Given the description of an element on the screen output the (x, y) to click on. 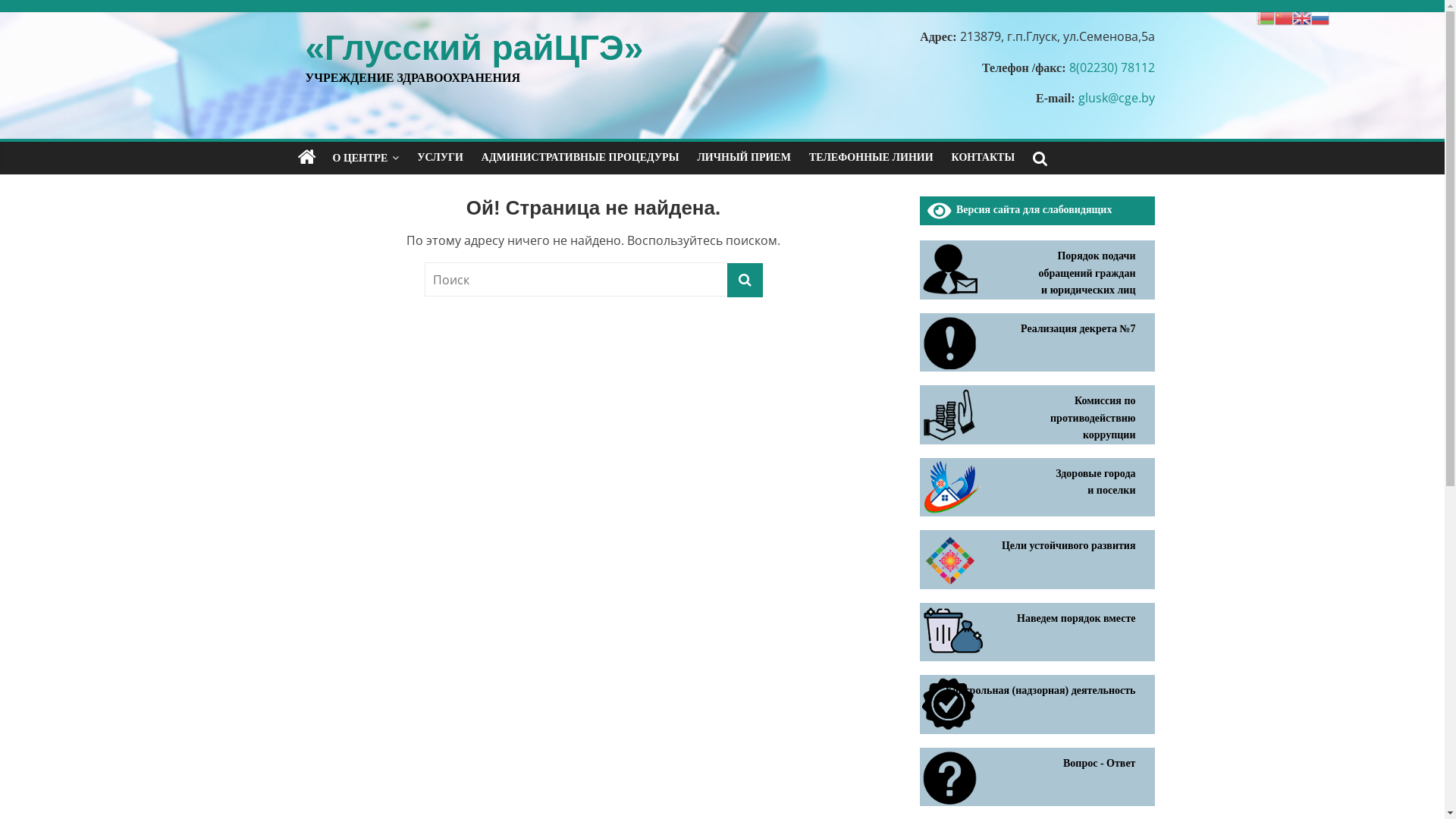
English Element type: hover (1301, 16)
8(02230) 78112 Element type: text (1111, 67)
Chinese (Simplified) Element type: hover (1283, 16)
Belarusian Element type: hover (1265, 16)
glusk@cge.by Element type: text (1116, 97)
Russian Element type: hover (1320, 16)
